Given the description of an element on the screen output the (x, y) to click on. 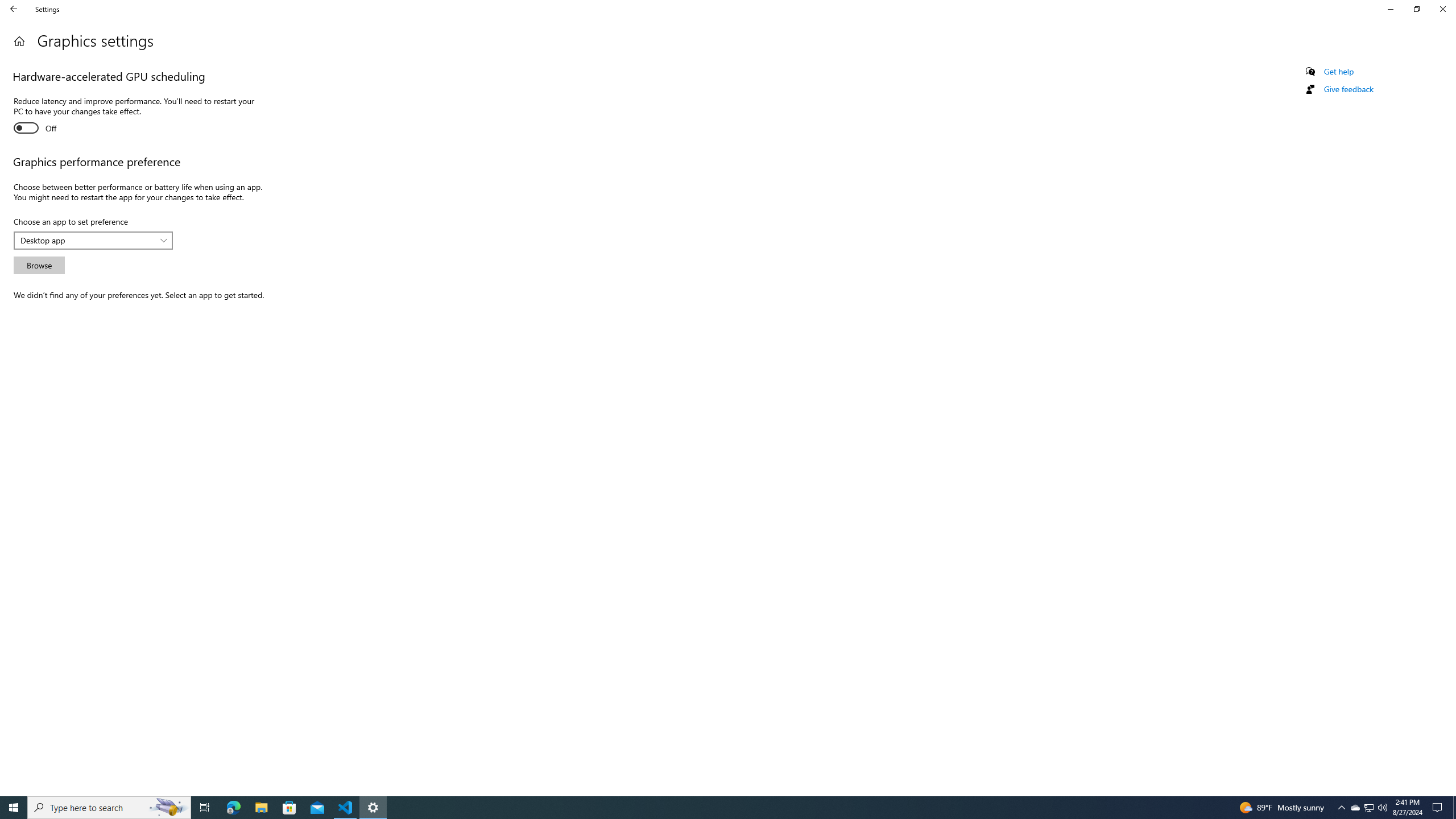
Microsoft Edge (233, 807)
Microsoft Store (289, 807)
Type here to search (108, 807)
Restore Settings (1416, 9)
Settings - 1 running window (373, 807)
Back (13, 9)
Get help (1338, 71)
Give feedback (1355, 807)
Close Settings (1348, 88)
Search highlights icon opens search home window (1442, 9)
Show desktop (167, 807)
